Given the description of an element on the screen output the (x, y) to click on. 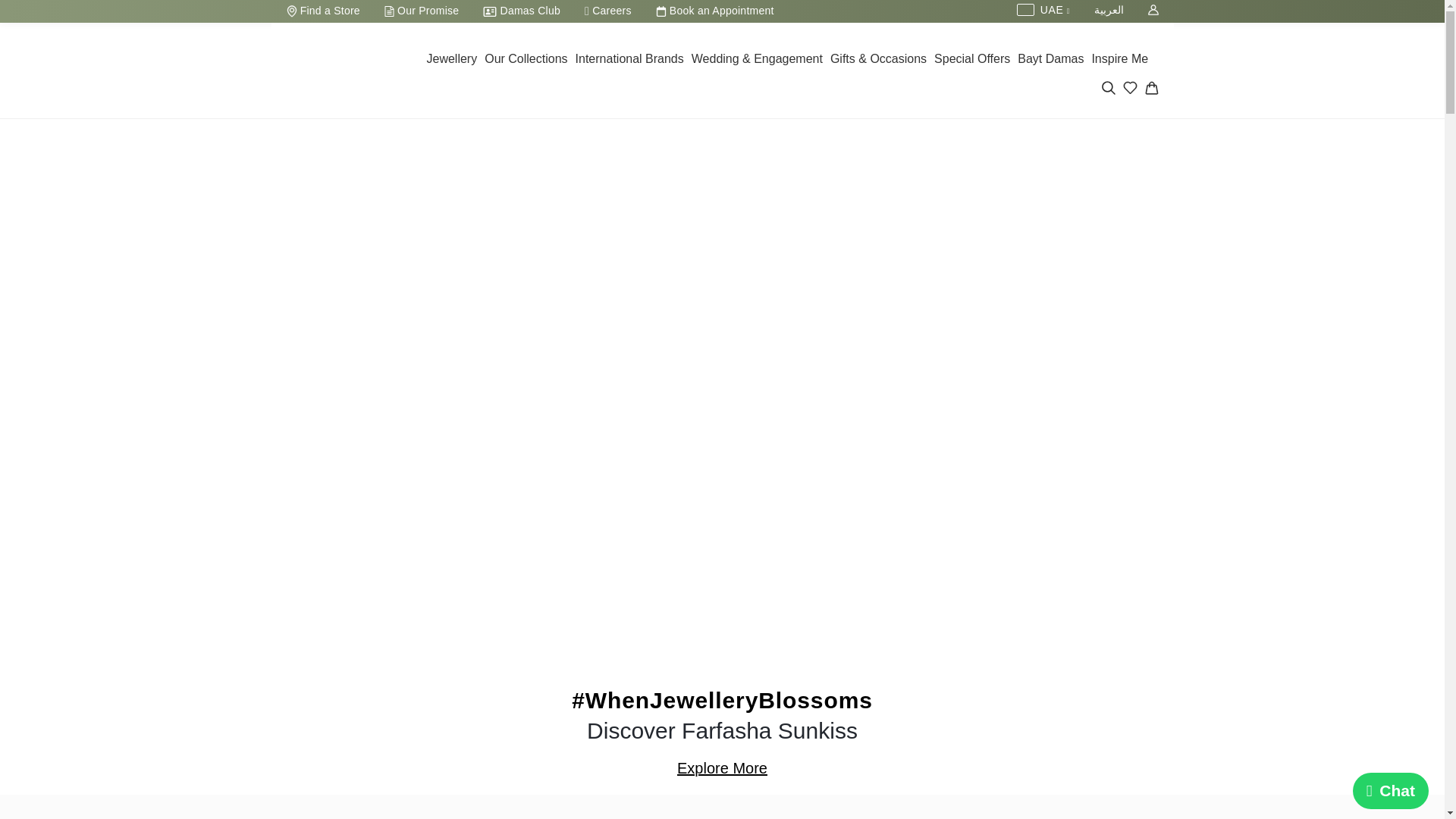
Careers (607, 11)
Find a Store (323, 11)
Damas Club (521, 11)
Book an Appointment (714, 11)
Our Promise (421, 11)
Jewellery (451, 61)
